Given the description of an element on the screen output the (x, y) to click on. 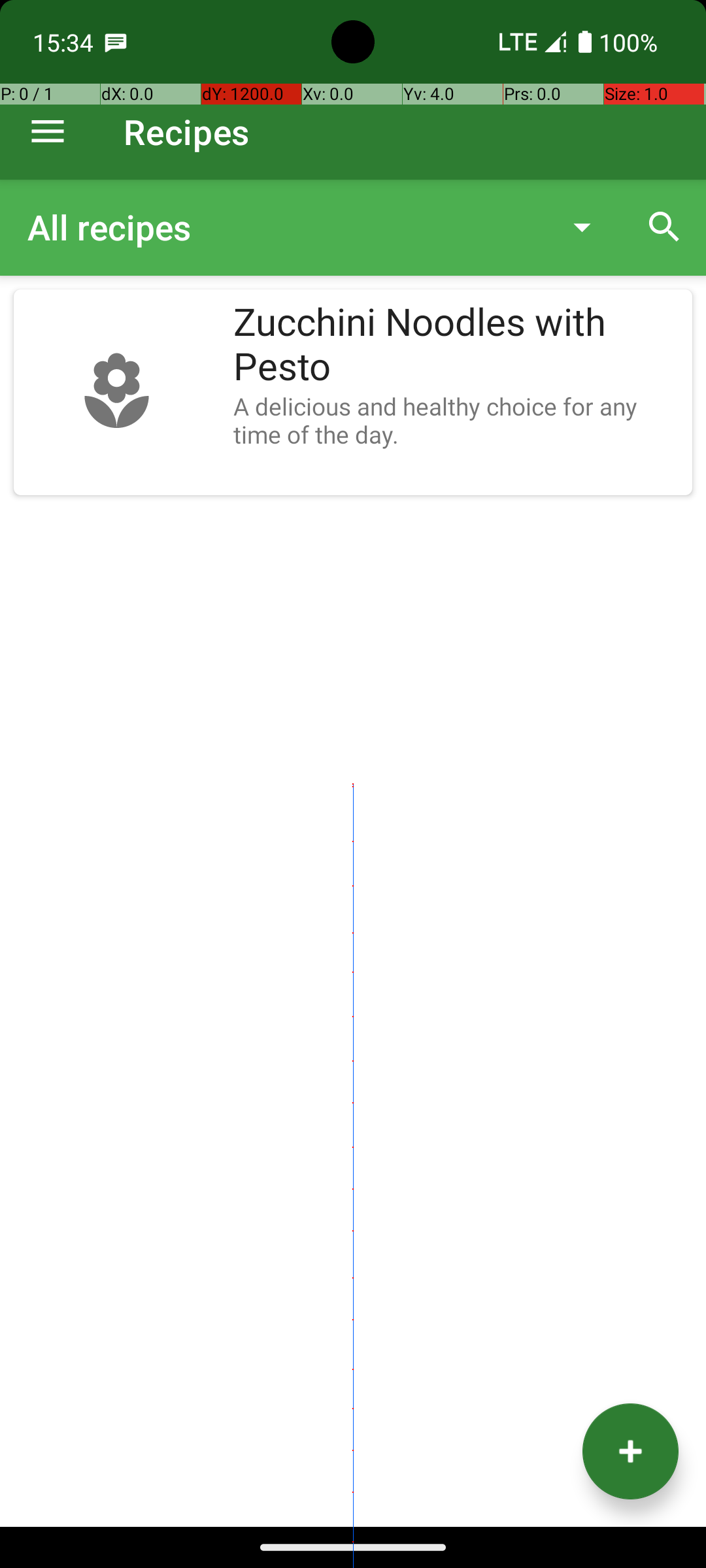
Zucchini Noodles with Pesto Element type: android.widget.TextView (455, 344)
